Given the description of an element on the screen output the (x, y) to click on. 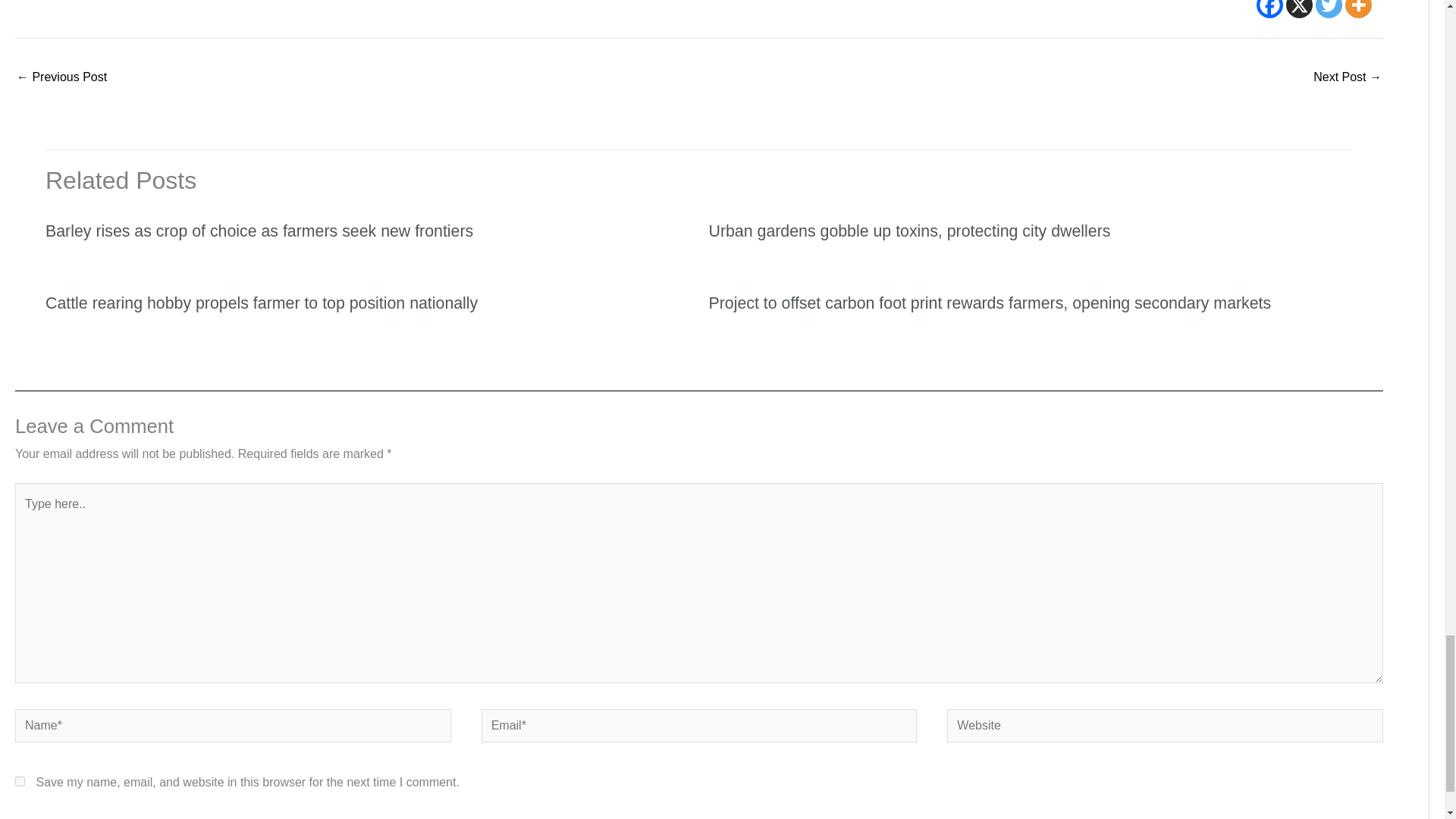
Urban gardens gobble up toxins, protecting city dwellers (908, 230)
Twitter (1329, 9)
X (1299, 9)
More (1358, 9)
Facebook (1269, 9)
Barley rises as crop of choice as farmers seek new frontiers (259, 230)
yes (19, 781)
